Given the description of an element on the screen output the (x, y) to click on. 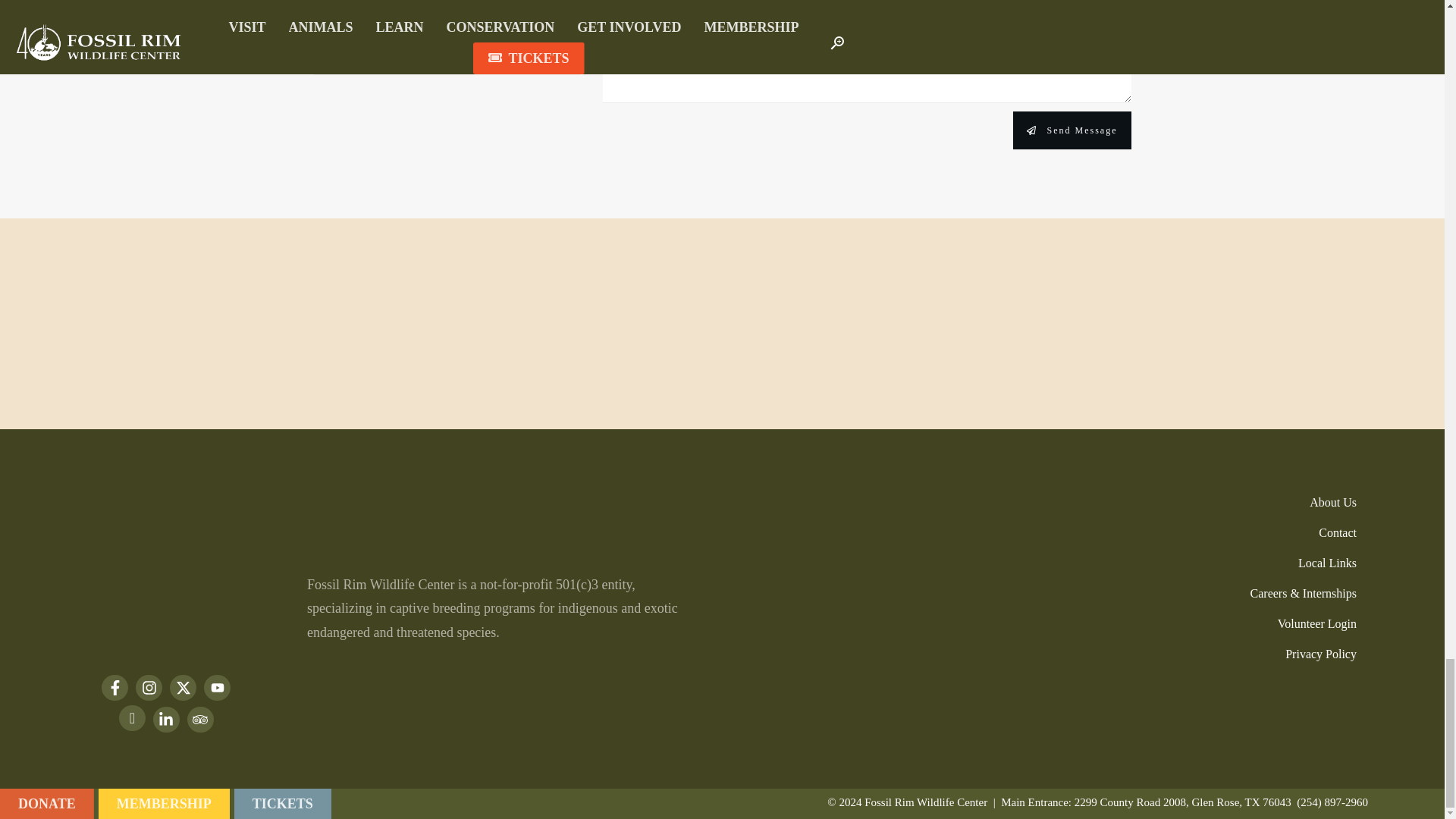
WebFooter40th (172, 561)
footer-illus (261, 354)
words-only (165, 642)
profile-GOLD2021-seal (1337, 716)
